Given the description of an element on the screen output the (x, y) to click on. 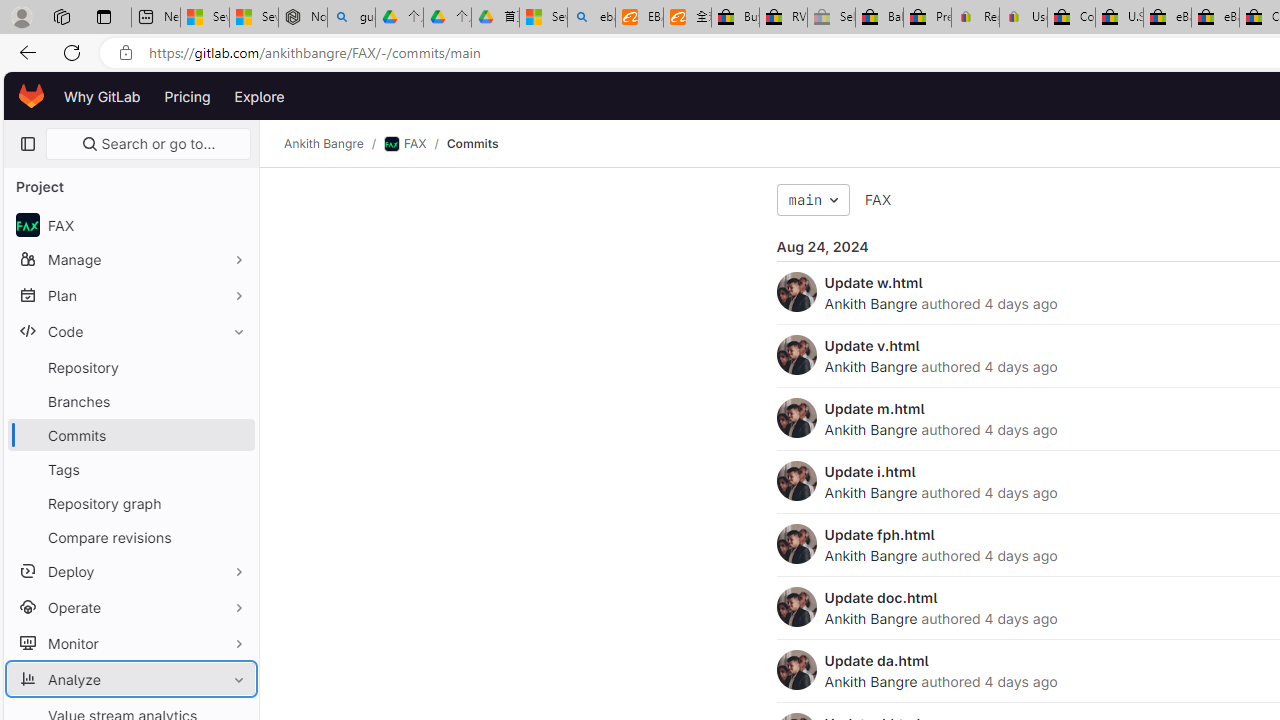
User Privacy Notice | eBay (1023, 17)
Ankith Bangre (870, 681)
Explore (259, 95)
Repository (130, 367)
Homepage (31, 95)
Manage (130, 259)
Ankith Bangre/ (334, 143)
Consumer Health Data Privacy Policy - eBay Inc. (1071, 17)
main (813, 200)
